Given the description of an element on the screen output the (x, y) to click on. 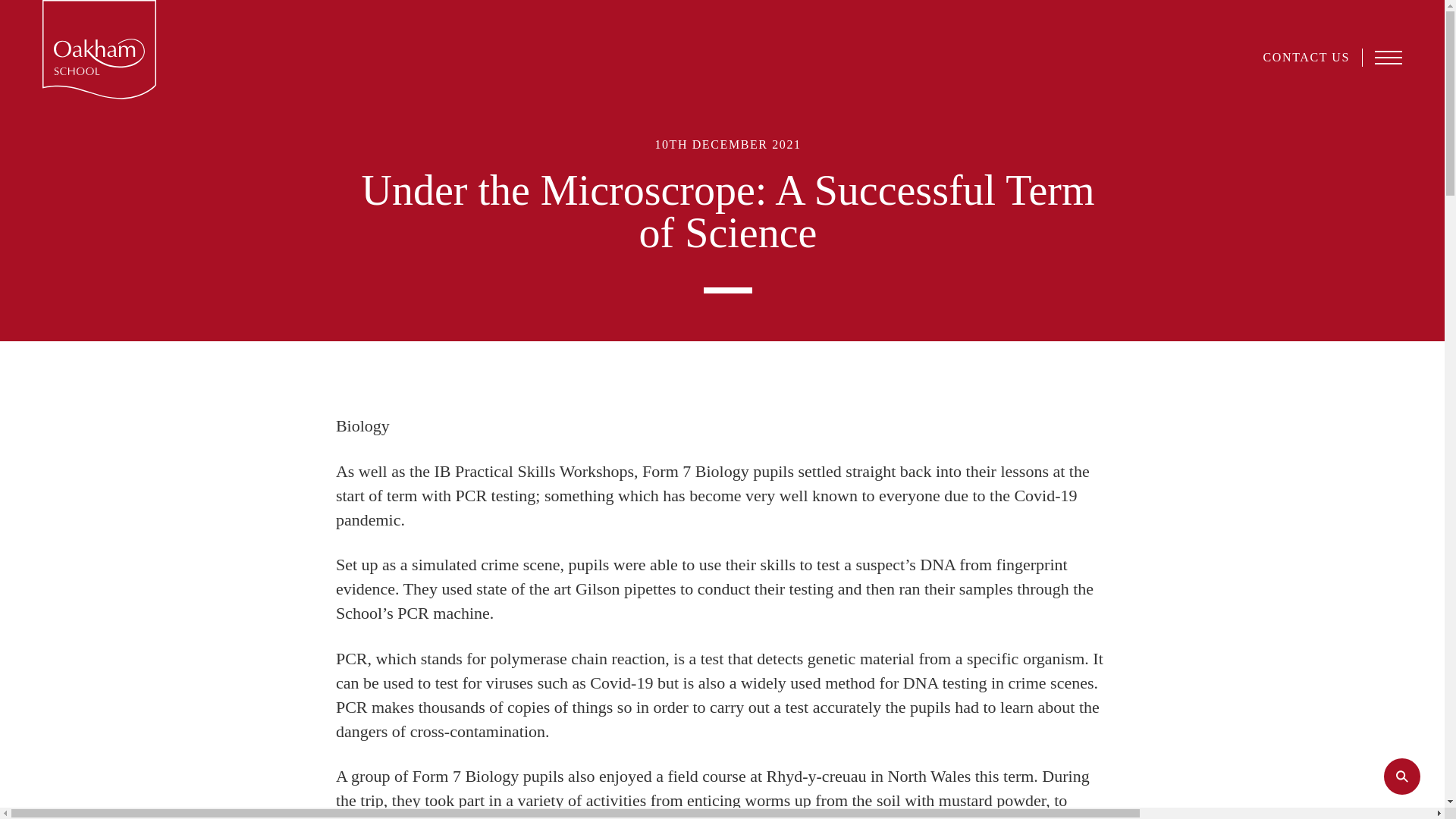
Open main menu (1388, 57)
CONTACT US (1306, 57)
